Given the description of an element on the screen output the (x, y) to click on. 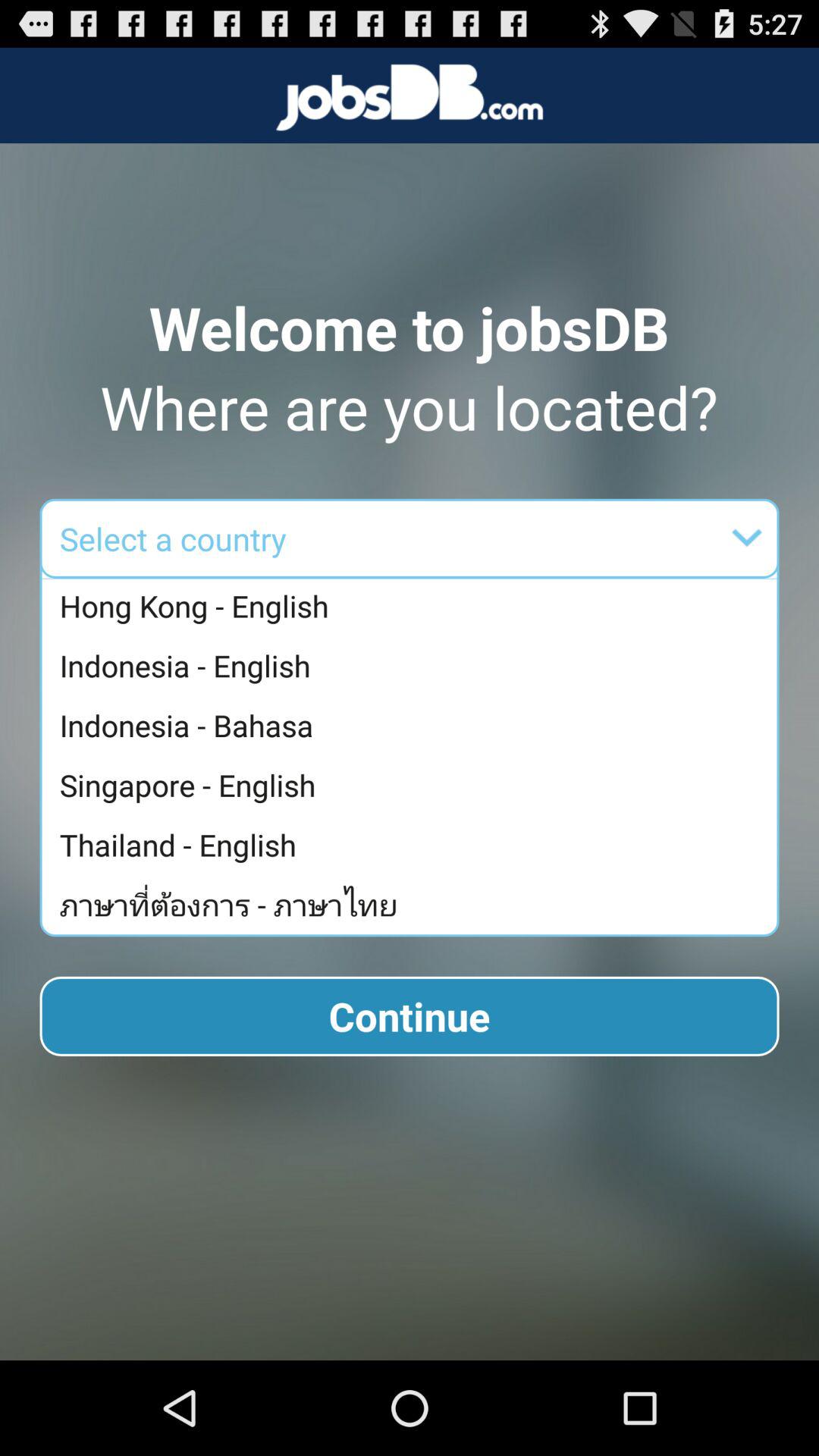
select the icon below singapore - english app (413, 844)
